Given the description of an element on the screen output the (x, y) to click on. 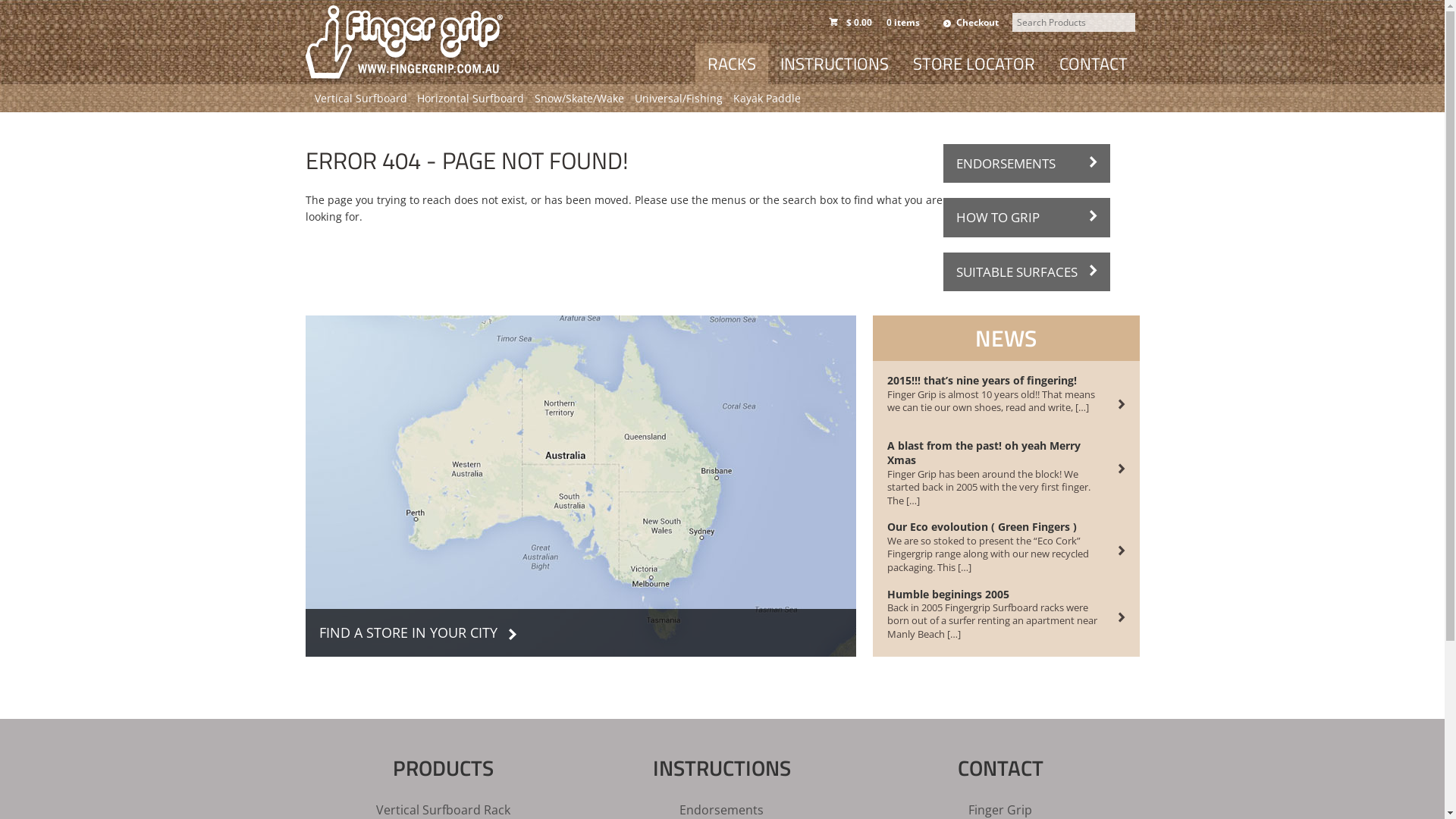
$ 0.000 items Element type: text (876, 22)
SUITABLE SURFACES Element type: text (1026, 271)
Snow/Skate/Wake Element type: text (578, 98)
Kayak Paddle Element type: text (766, 98)
ENDORSEMENTS Element type: text (1026, 163)
Endorsements Element type: text (721, 808)
RACKS Element type: text (730, 63)
Horizontal Surfboard Element type: text (470, 98)
CONTACT Element type: text (1092, 63)
STORE LOCATOR Element type: text (973, 63)
Universal/Fishing Element type: text (678, 98)
Vertical Surfboard Element type: text (360, 98)
Checkout Element type: text (970, 23)
Search Element type: text (159, 12)
FIND A STORE IN YOUR CITY Element type: text (579, 485)
Vertical Surfboard Rack Element type: text (443, 808)
INSTRUCTIONS Element type: text (833, 63)
HOW TO GRIP Element type: text (1026, 216)
